Given the description of an element on the screen output the (x, y) to click on. 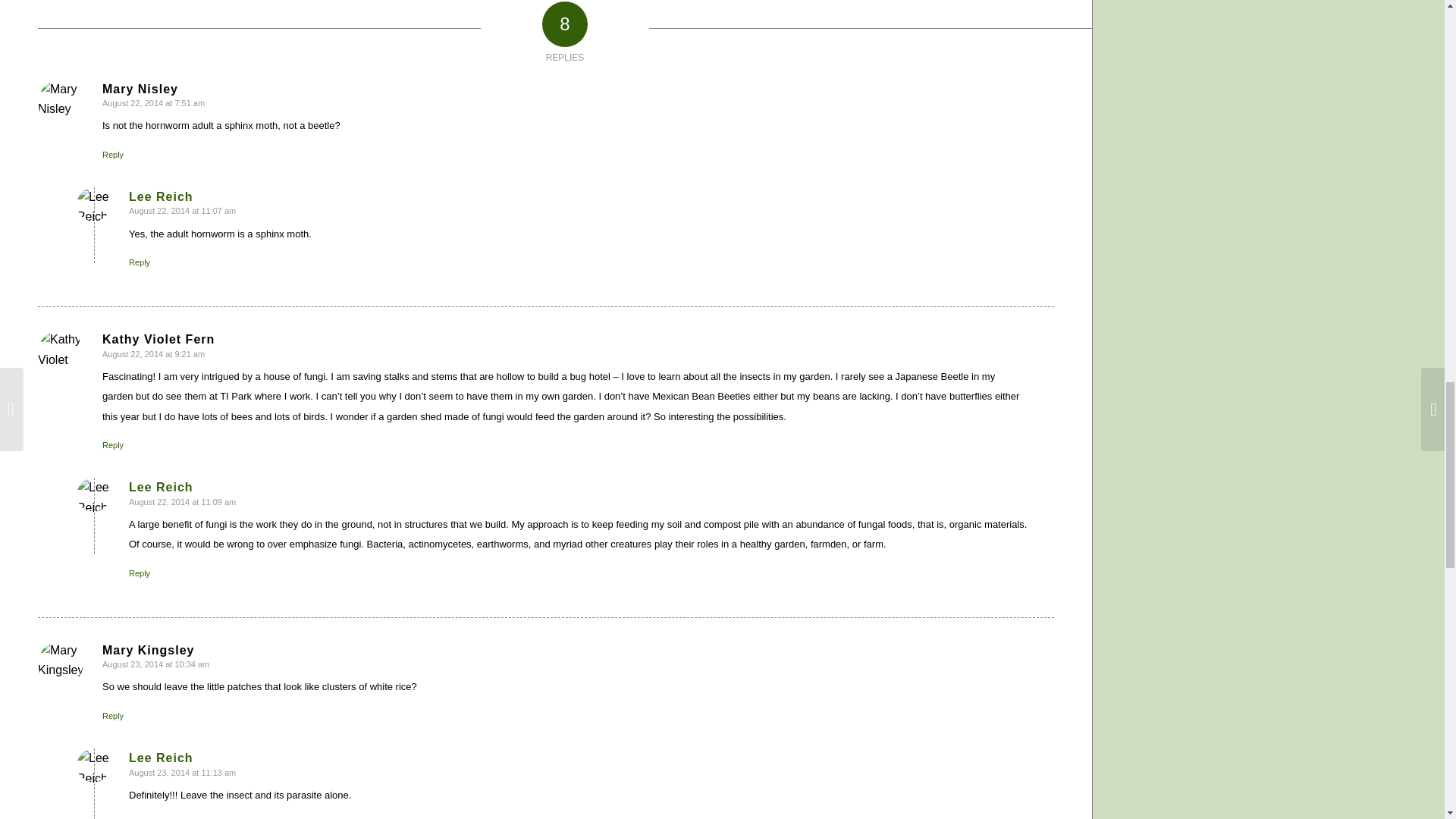
August 22, 2014 at 7:51 am (153, 102)
Reply (112, 153)
Lee Reich (161, 196)
Reply (139, 261)
August 22, 2014 at 9:21 am (153, 353)
August 22, 2014 at 11:07 am (182, 210)
